Given the description of an element on the screen output the (x, y) to click on. 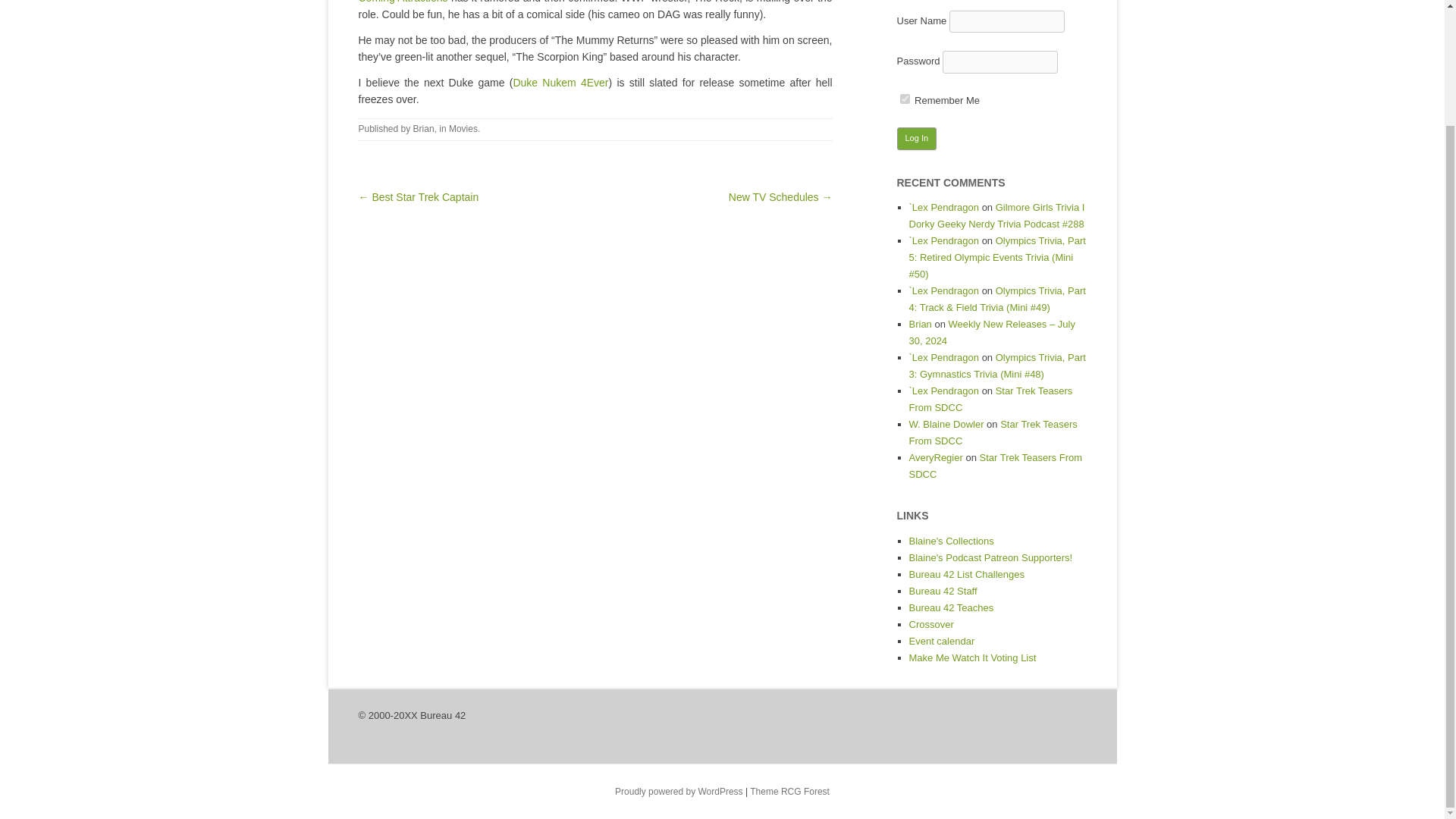
Bureau 42 Teaches (950, 607)
Star Trek Teasers From SDCC (994, 465)
Event calendar (941, 641)
forever (903, 99)
Proudly powered by WordPress (678, 791)
Brian (423, 128)
Coming Attractions (402, 2)
Crossover (930, 624)
Semantic Personal Publishing Platform (678, 791)
Log In (916, 138)
Blaine's Collections (950, 541)
Bureau 42 Staff (942, 591)
AveryRegier (935, 457)
The home of our new annual list challenges. (966, 573)
